Given the description of an element on the screen output the (x, y) to click on. 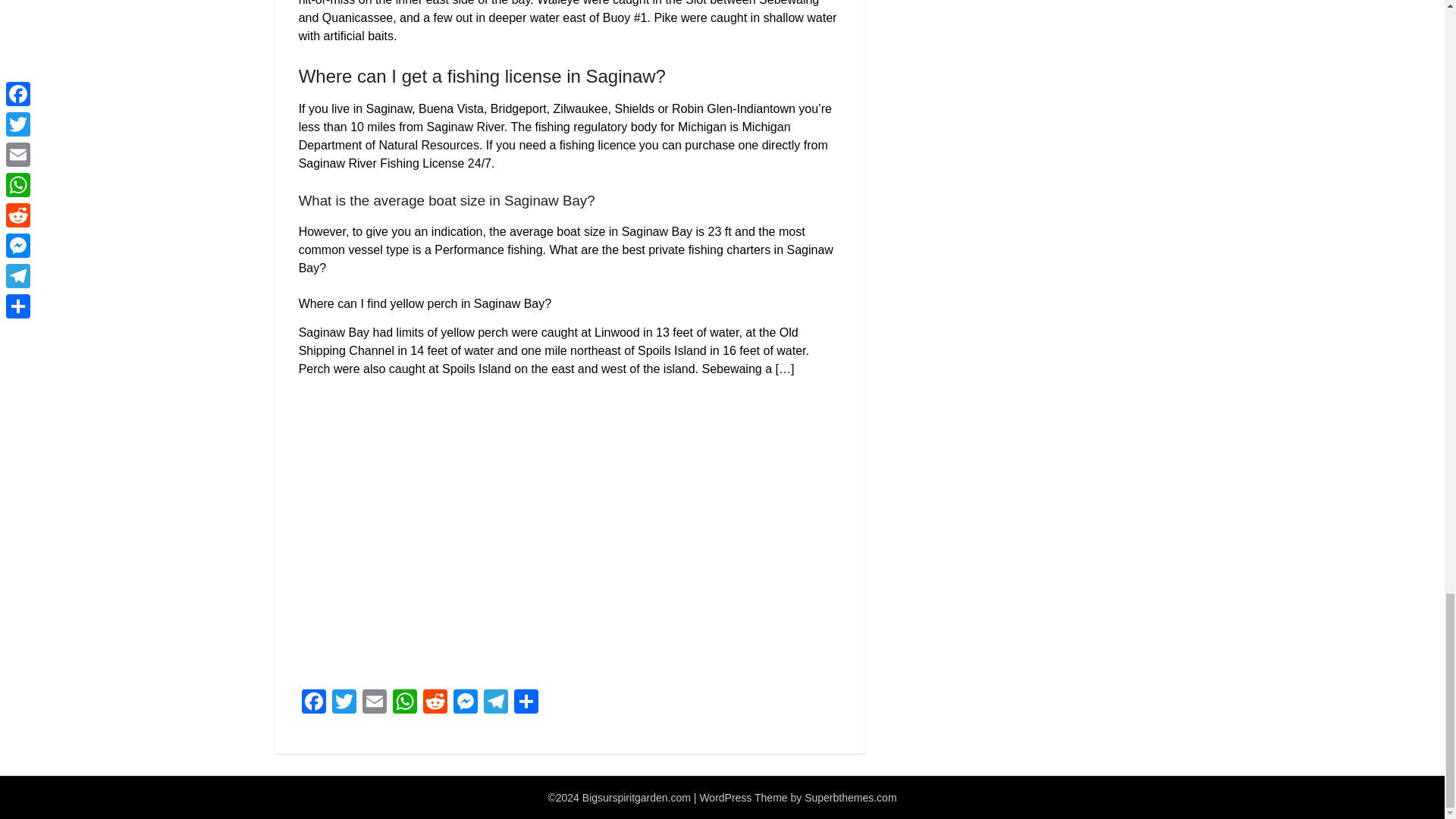
Twitter (344, 703)
Email (374, 703)
Telegram (495, 703)
WhatsApp (405, 703)
Messenger (464, 703)
WhatsApp (405, 703)
Saginaw Bay Bluegill Fishing: S4 EP1 (541, 532)
Messenger (464, 703)
Facebook (313, 703)
Telegram (495, 703)
Reddit (434, 703)
Twitter (344, 703)
Reddit (434, 703)
Facebook (313, 703)
Email (374, 703)
